Given the description of an element on the screen output the (x, y) to click on. 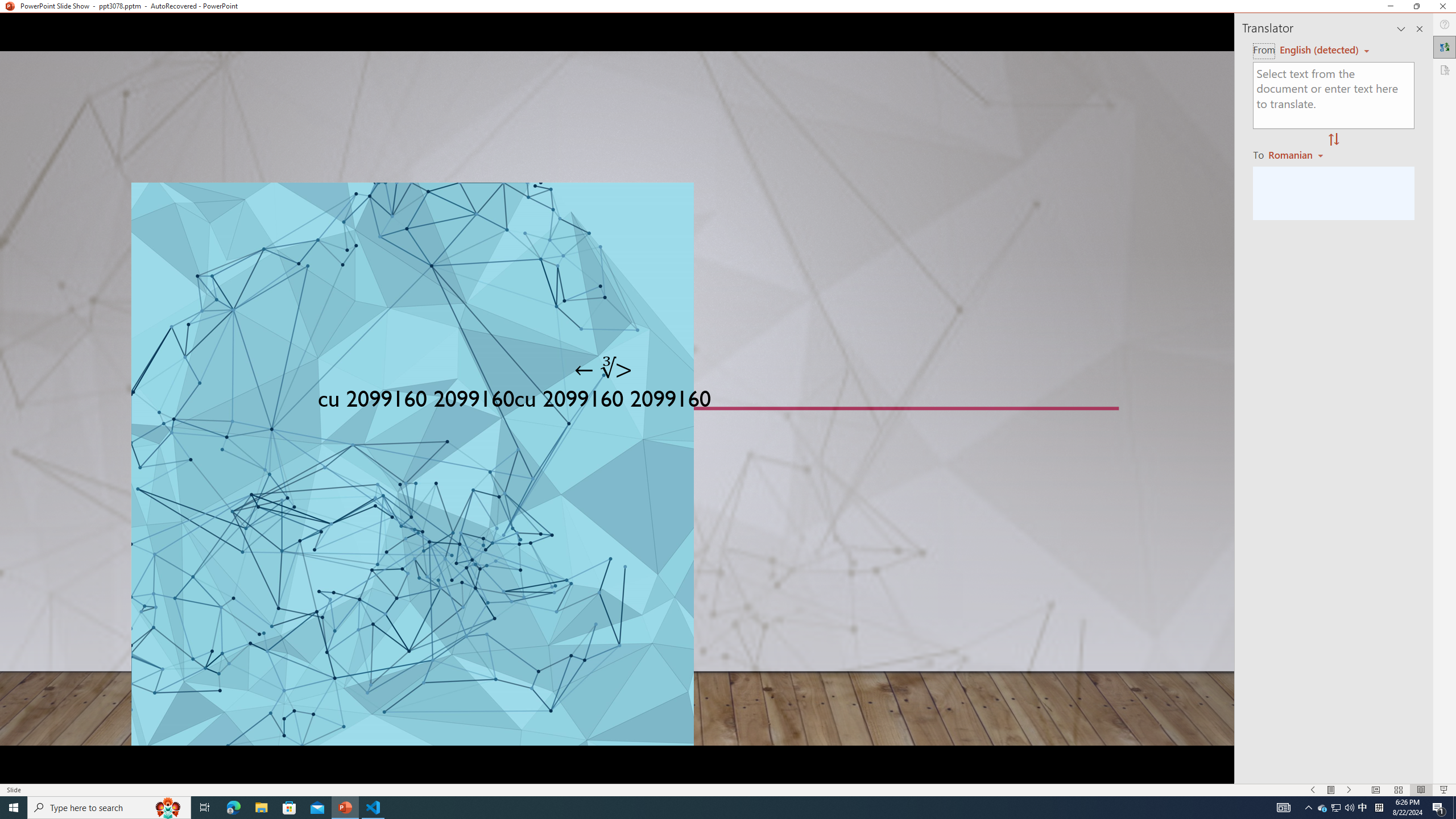
Romanian (1296, 154)
Swap "from" and "to" languages. (1333, 140)
Menu On (1331, 790)
Slide Show Previous On (1313, 790)
